Given the description of an element on the screen output the (x, y) to click on. 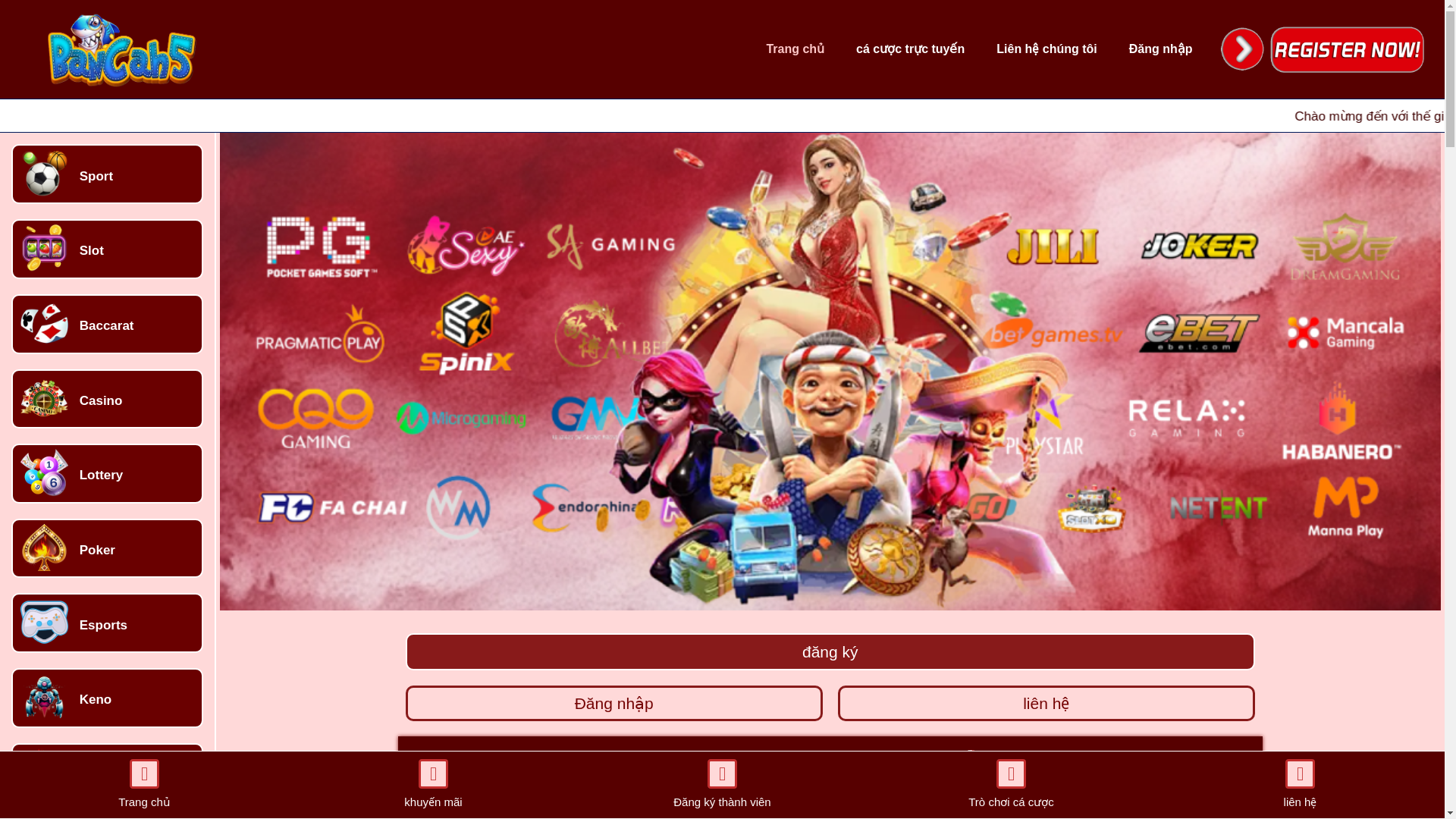
Slot (91, 250)
Esports (104, 625)
Trade (96, 774)
Baccarat (106, 325)
Keno (96, 699)
ban ca h5 (453, 803)
Casino (101, 400)
Sport (96, 175)
Lottery (101, 474)
Poker (97, 549)
